Given the description of an element on the screen output the (x, y) to click on. 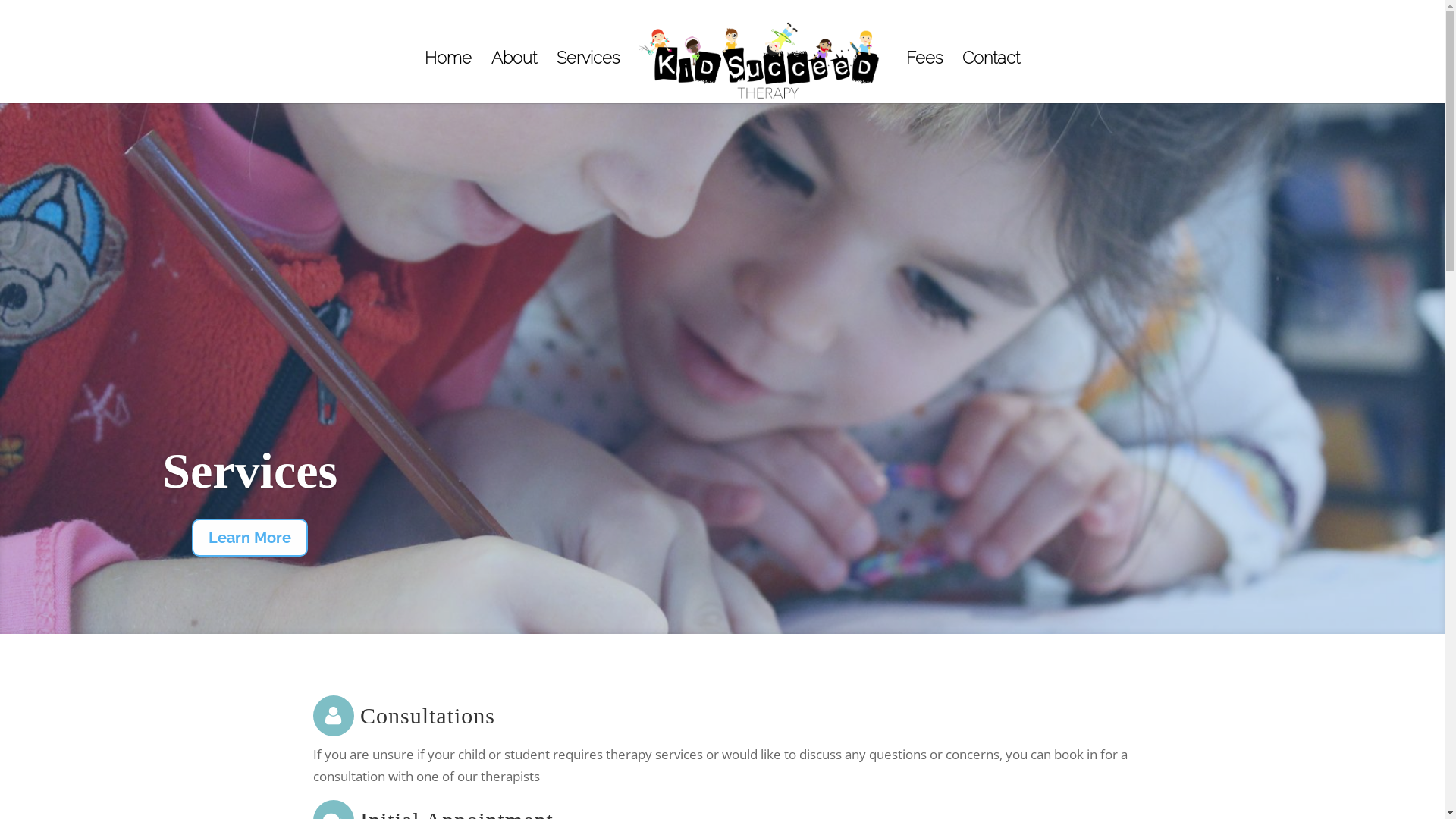
Services Element type: text (249, 470)
Services Element type: text (587, 77)
Home Element type: text (447, 77)
About Element type: text (513, 77)
Learn More Element type: text (249, 537)
Fees Element type: text (924, 77)
Contact Element type: text (990, 77)
